Given the description of an element on the screen output the (x, y) to click on. 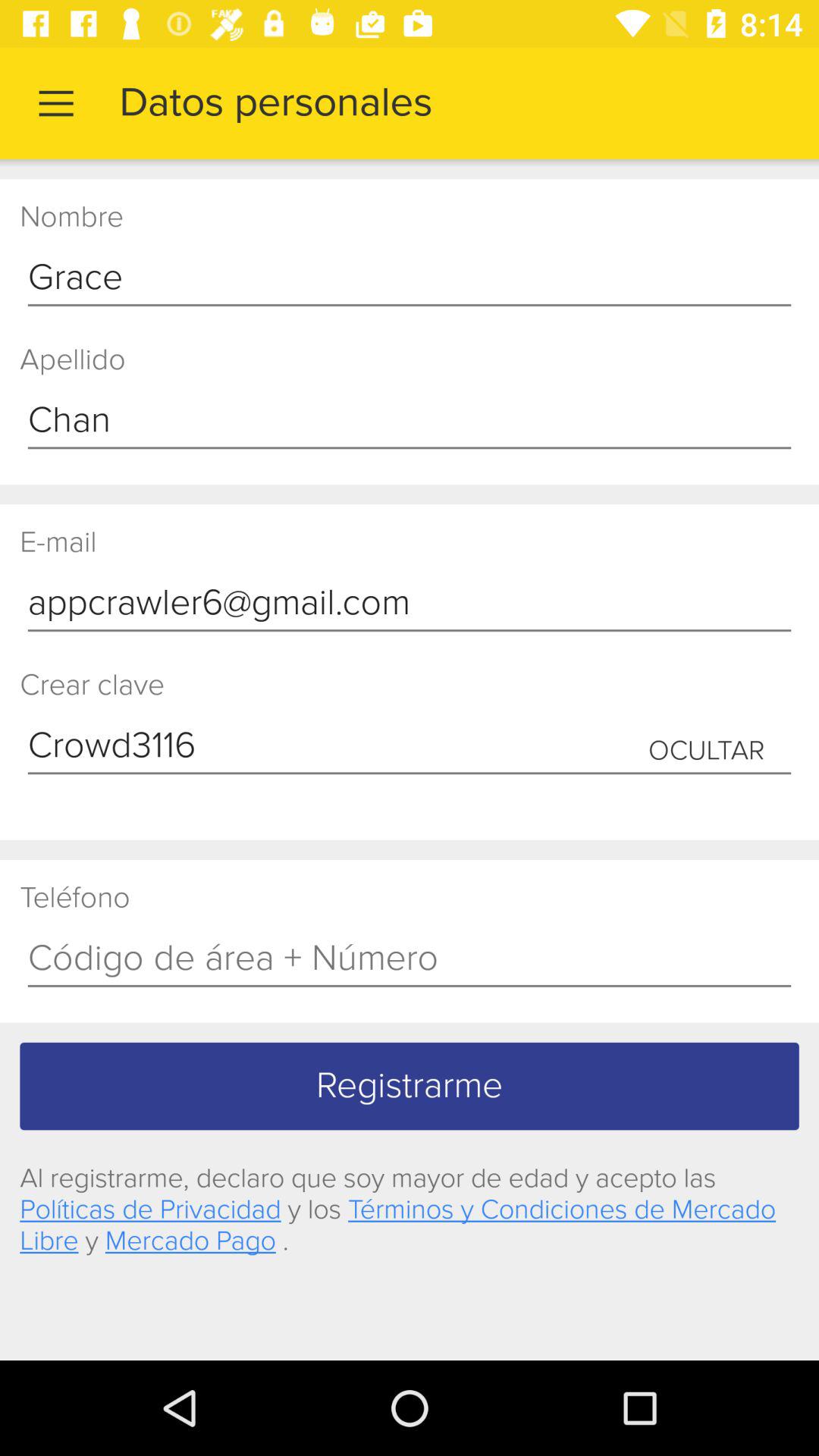
tap the item below the crear clave (409, 746)
